Given the description of an element on the screen output the (x, y) to click on. 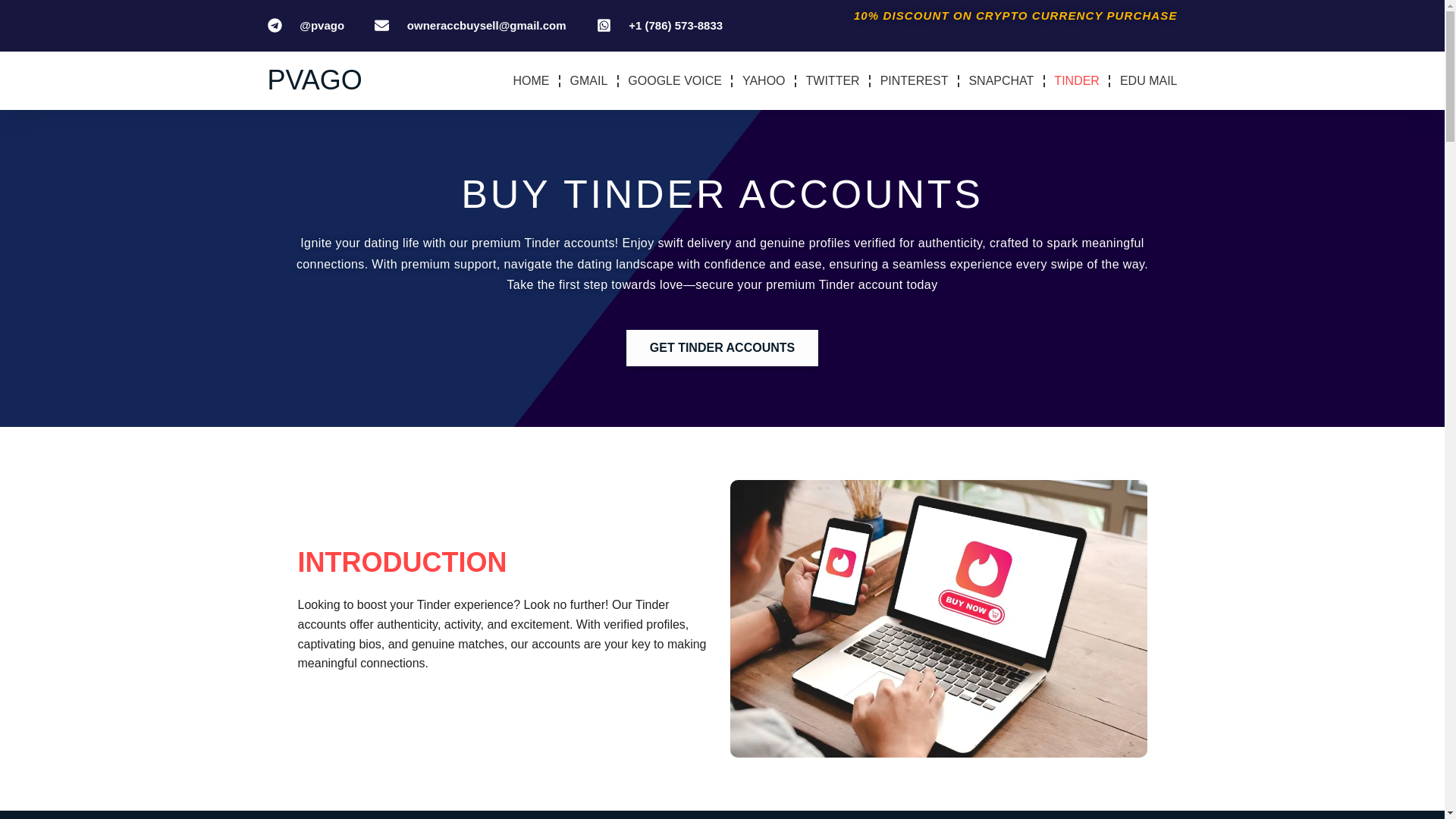
SNAPCHAT (1000, 80)
GET TINDER ACCOUNTS (722, 348)
PVAGO (313, 79)
GMAIL (589, 80)
TINDER (1076, 80)
EDU MAIL (1148, 80)
HOME (531, 80)
PINTEREST (914, 80)
TWITTER (833, 80)
GOOGLE VOICE (674, 80)
